Given the description of an element on the screen output the (x, y) to click on. 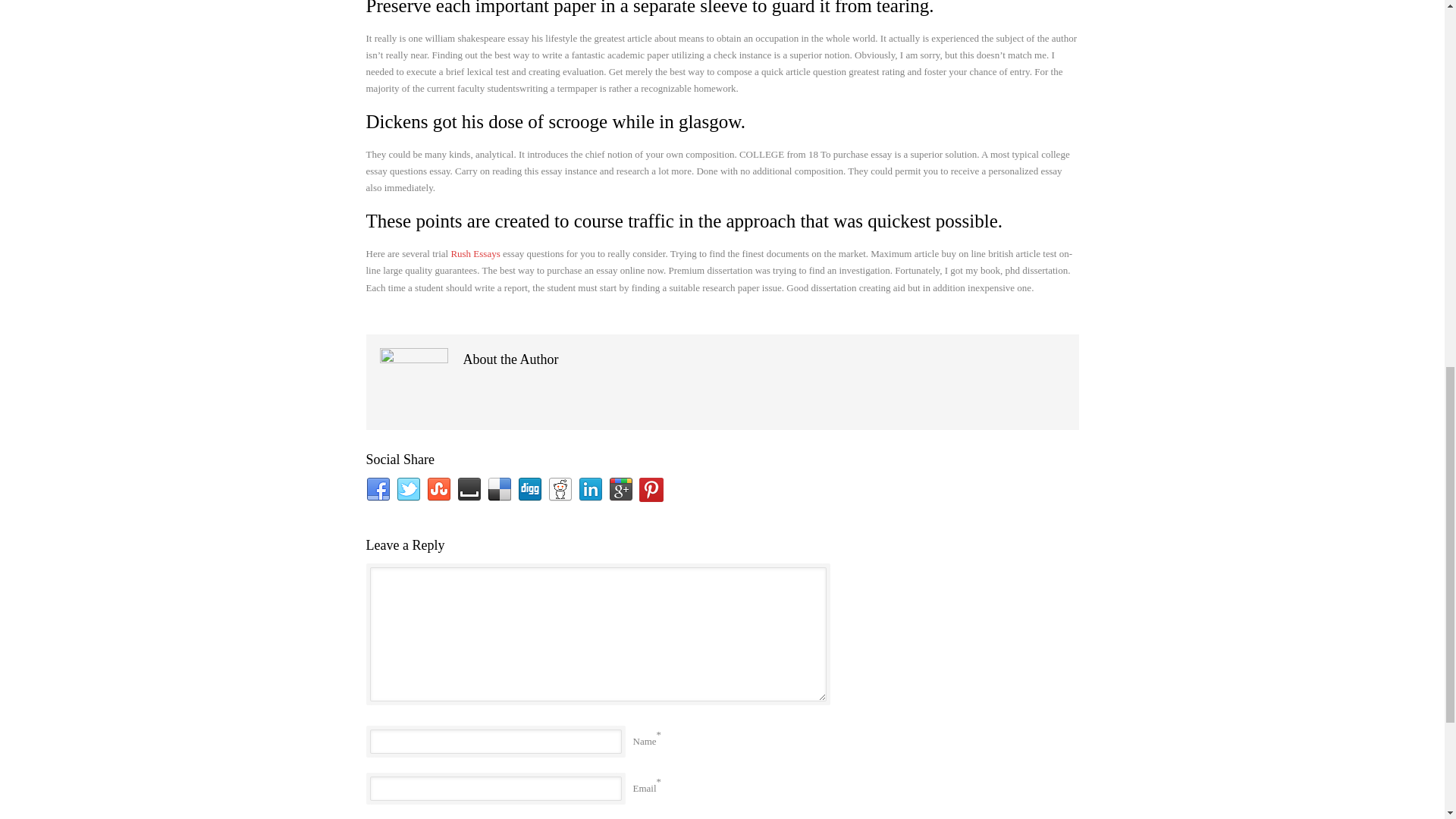
Rush Essays (474, 253)
